Given the description of an element on the screen output the (x, y) to click on. 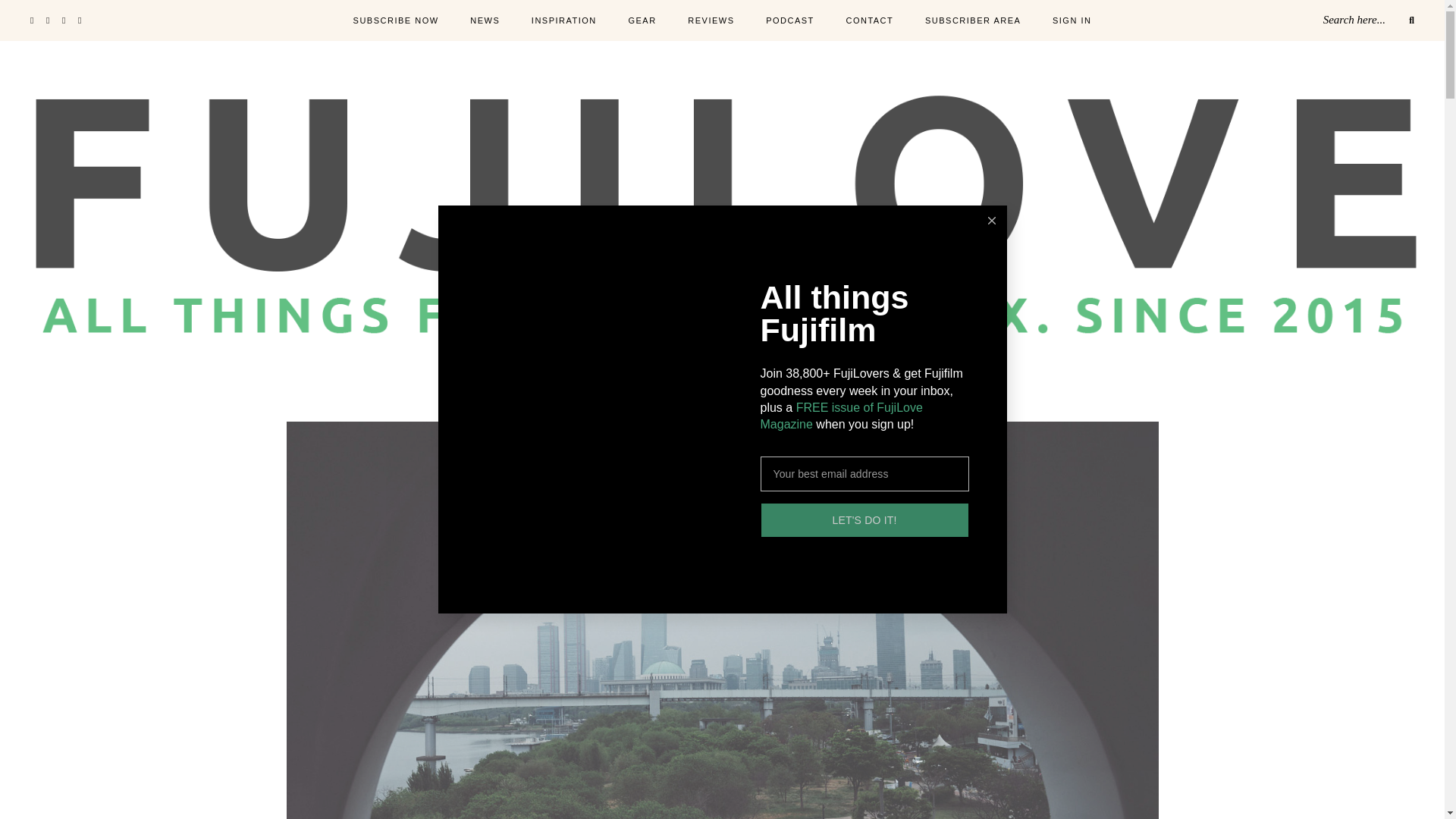
PODCAST (789, 20)
CONTACT (869, 20)
INSPIRATION (563, 20)
REVIEWS (710, 20)
SUBSCRIBE NOW (396, 20)
SIGN IN (1071, 20)
SUBSCRIBER AREA (972, 20)
